Given the description of an element on the screen output the (x, y) to click on. 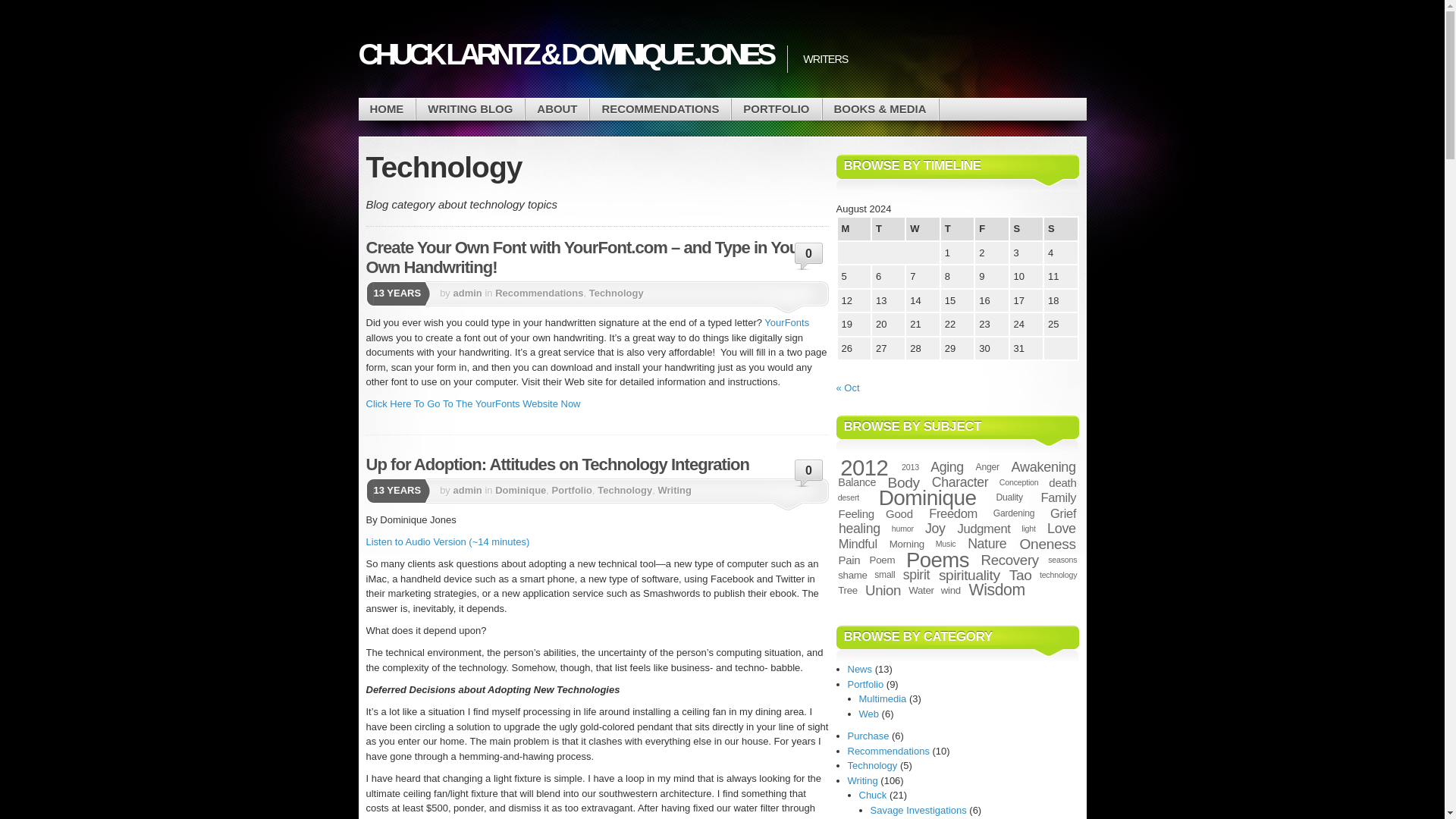
Portfolio (776, 109)
PORTFOLIO (776, 109)
admin (466, 292)
Dominique (520, 490)
0 (809, 474)
Recommendations (659, 109)
Technology (616, 292)
Posts by admin (466, 292)
YourFont Web Site (472, 403)
